Given the description of an element on the screen output the (x, y) to click on. 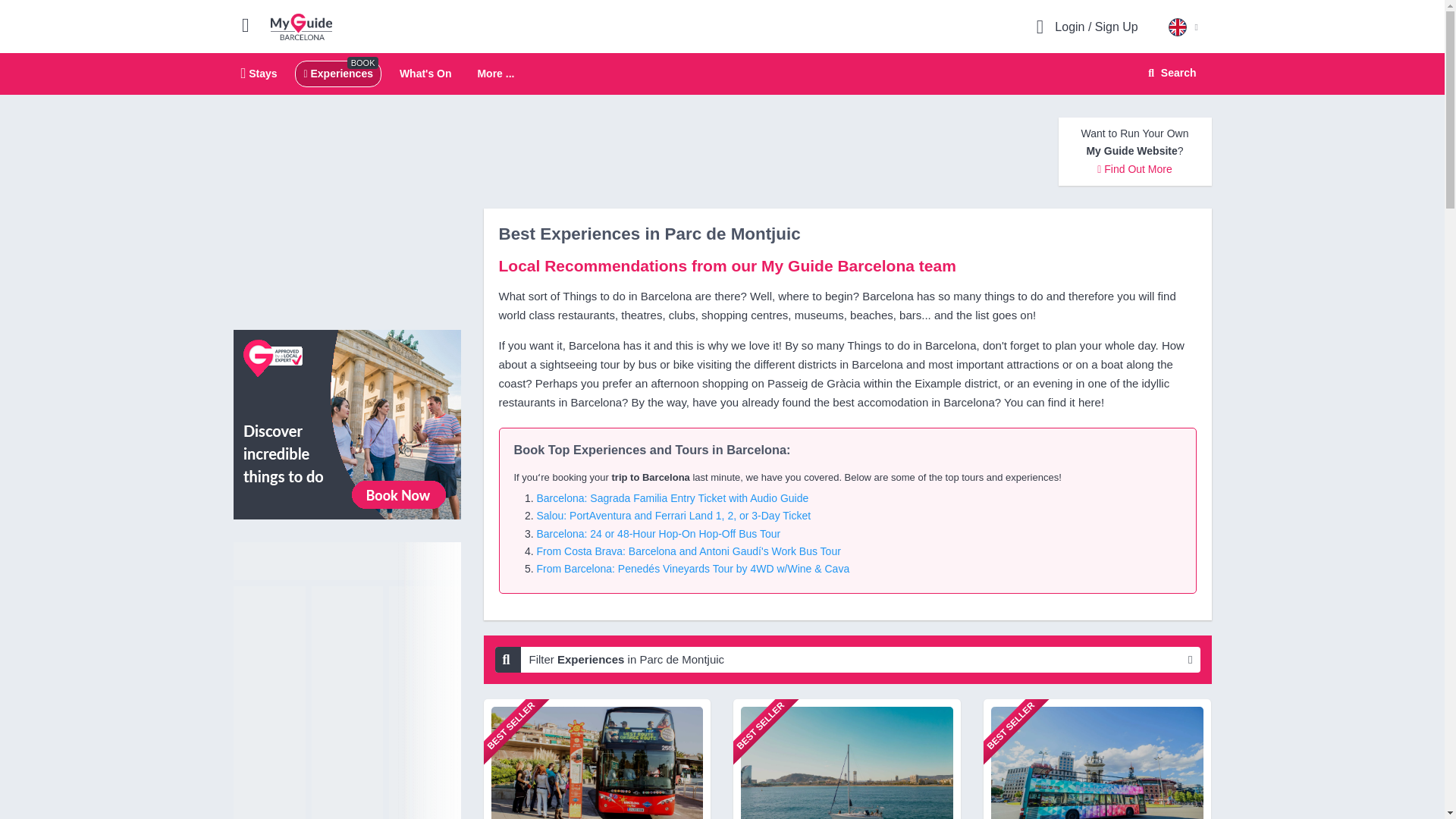
What's On (424, 73)
My Guide Barcelona (300, 25)
More ... (495, 73)
Stays (259, 73)
Experiences (337, 73)
Search (1169, 72)
